Given the description of an element on the screen output the (x, y) to click on. 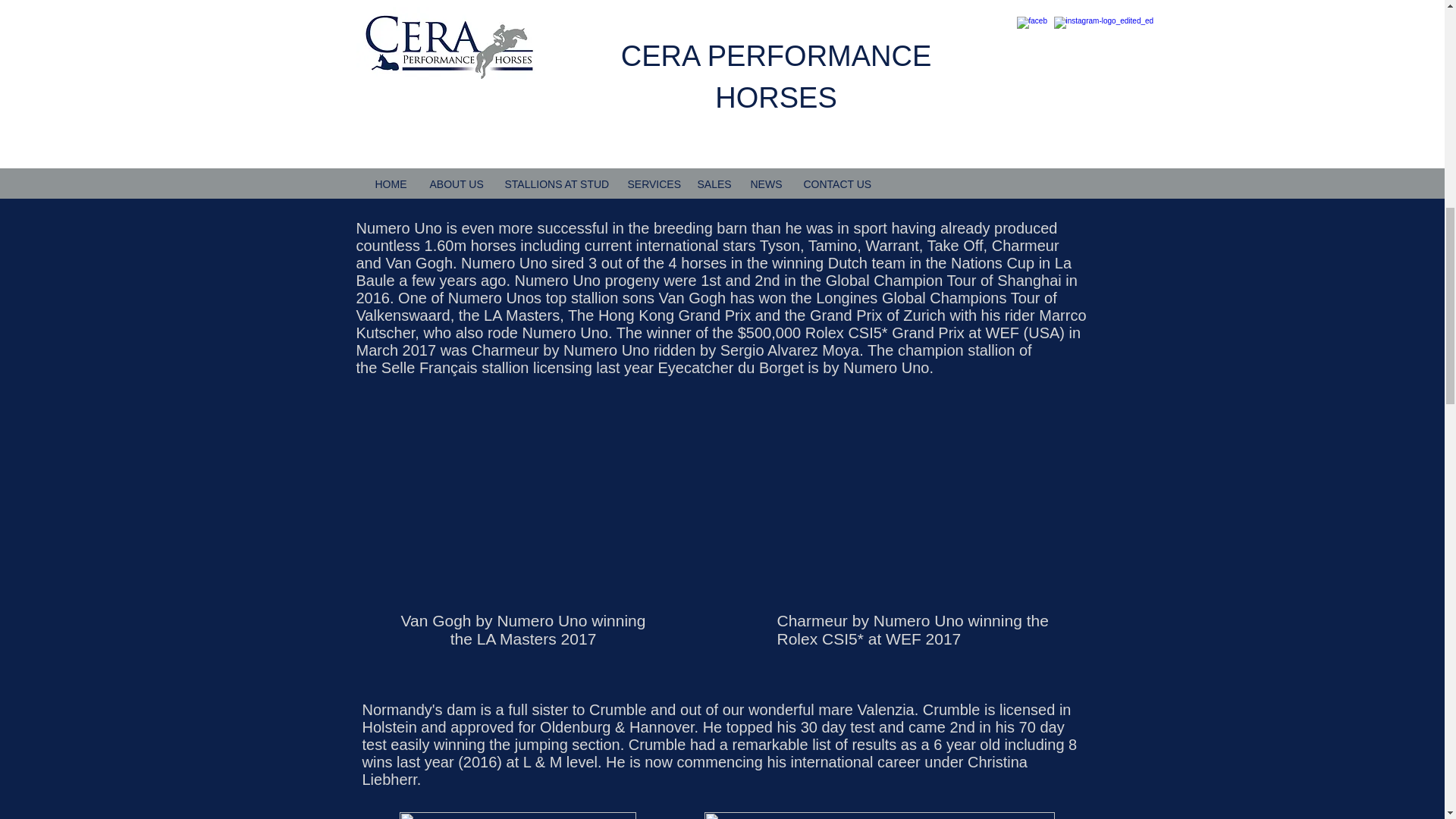
Numero Uno (885, 367)
External YouTube (843, 87)
External YouTube (532, 506)
External YouTube (911, 506)
Valenzia (885, 709)
